Given the description of an element on the screen output the (x, y) to click on. 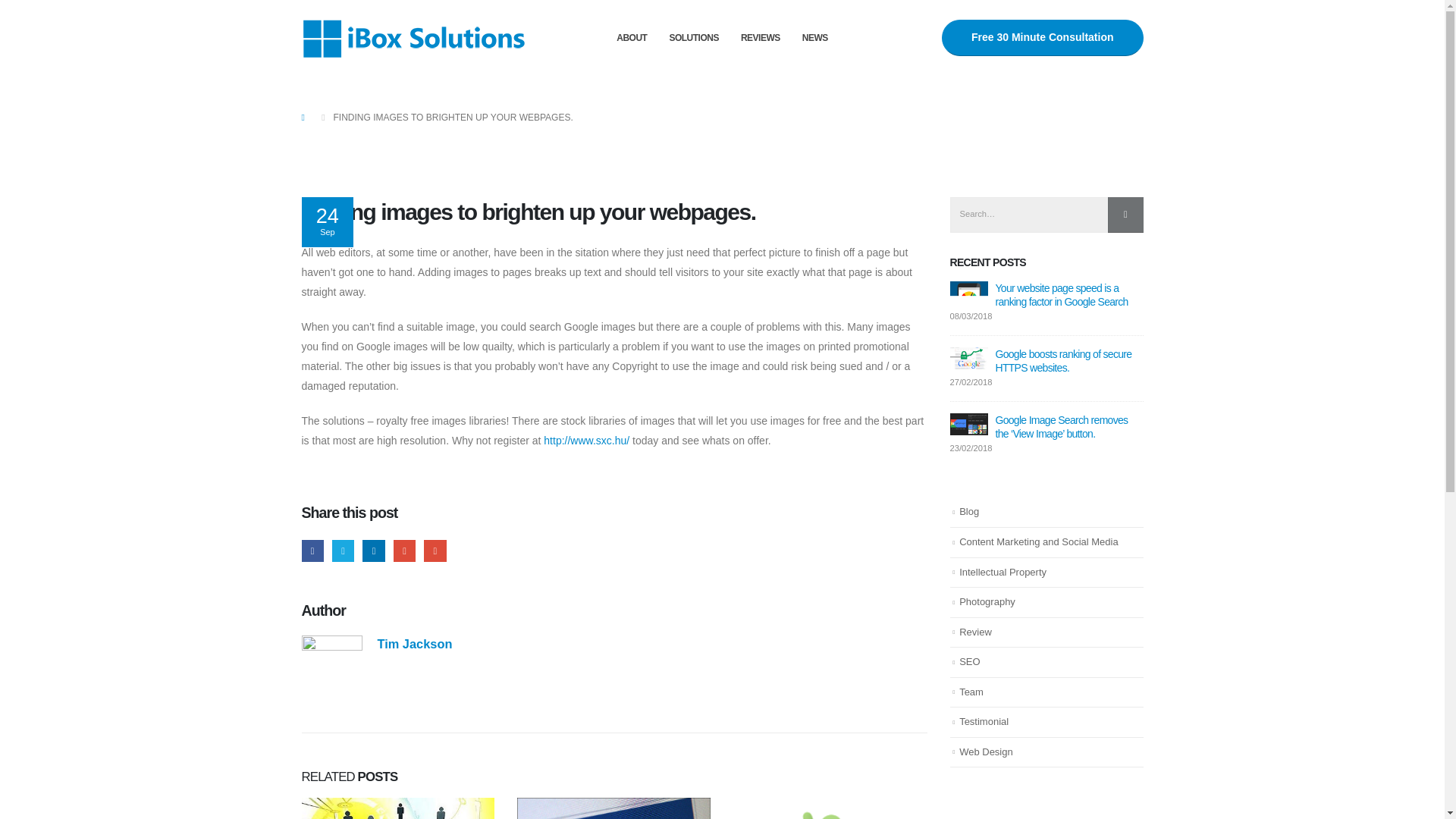
LinkedIn (373, 550)
Free 30 Minute Consultation (1042, 37)
Posts by Tim Jackson (414, 643)
iBox Solutions - Web Design, SEO and Digital Marketing (415, 37)
Tim Jackson (414, 643)
Facebook (312, 550)
LinkedIn (373, 550)
Email (434, 550)
Email (434, 550)
Facebook (312, 550)
SOLUTIONS (693, 38)
Twitter (342, 550)
Twitter (342, 550)
Free 30 Minute Consultation (1042, 37)
